Given the description of an element on the screen output the (x, y) to click on. 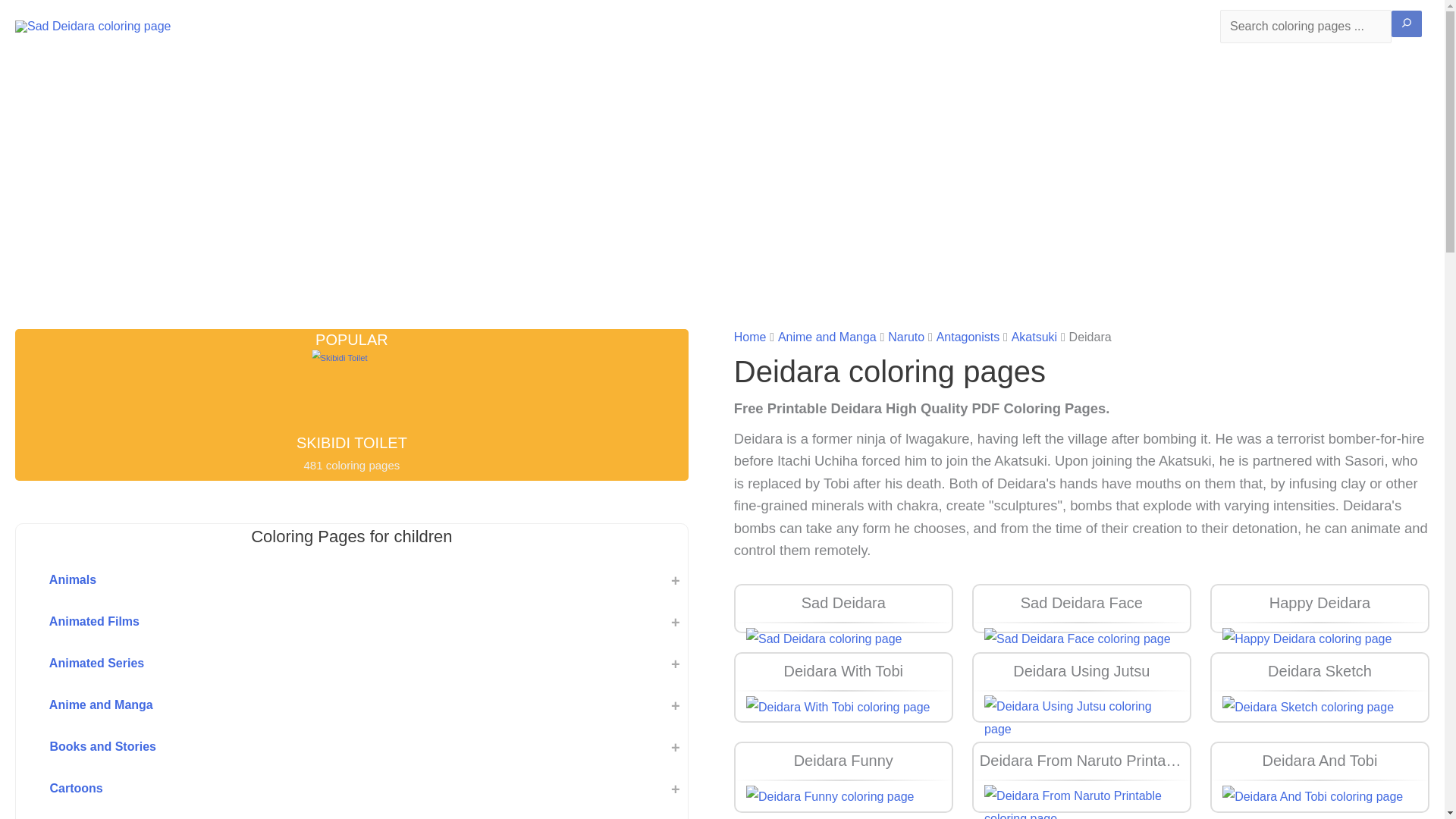
Animals (318, 580)
Animated Films (318, 622)
Animated Films coloring pages (318, 622)
Animals coloring pages (318, 580)
